Given the description of an element on the screen output the (x, y) to click on. 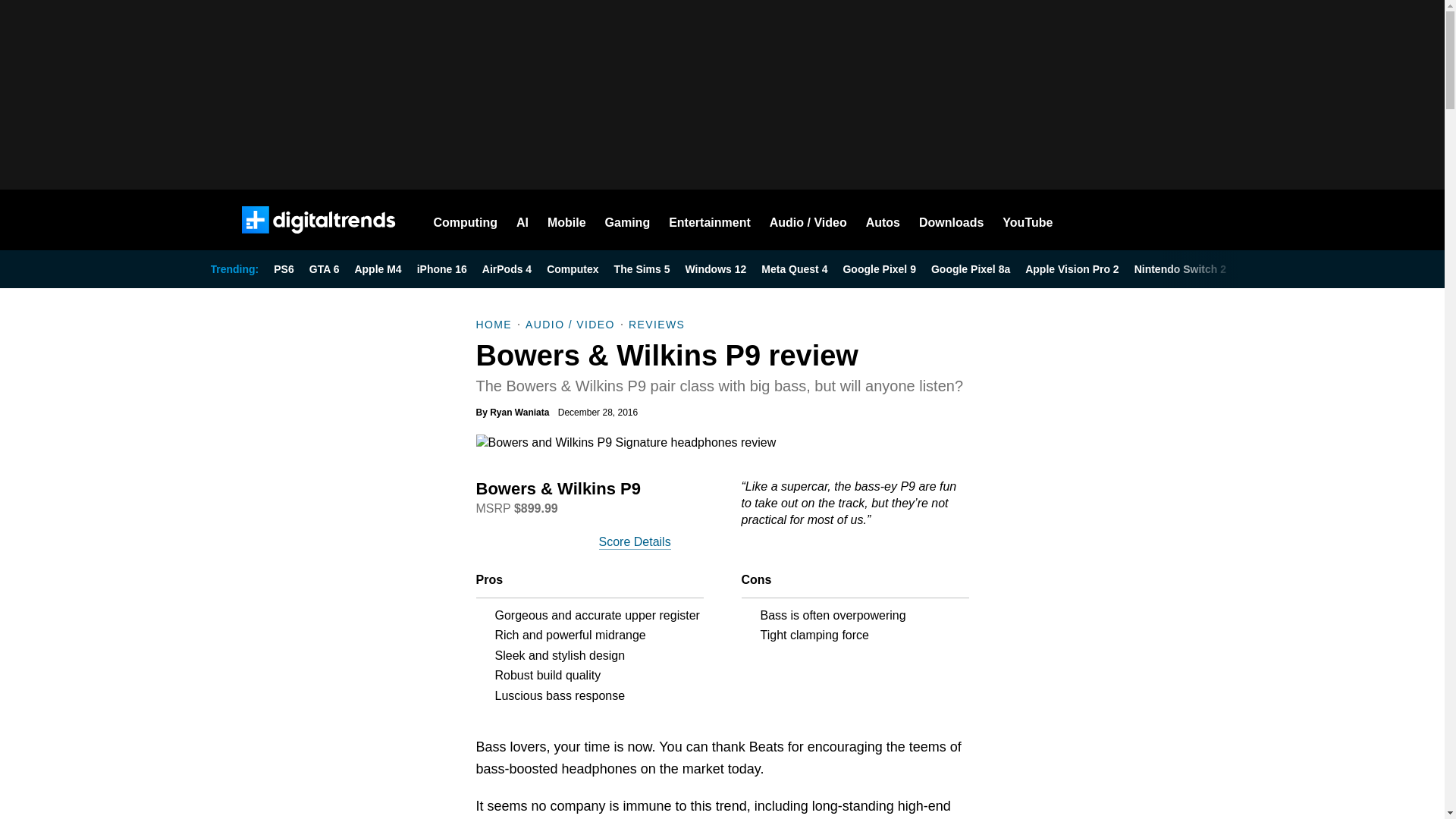
Downloads (951, 219)
Computing (465, 219)
Entertainment (709, 219)
